Given the description of an element on the screen output the (x, y) to click on. 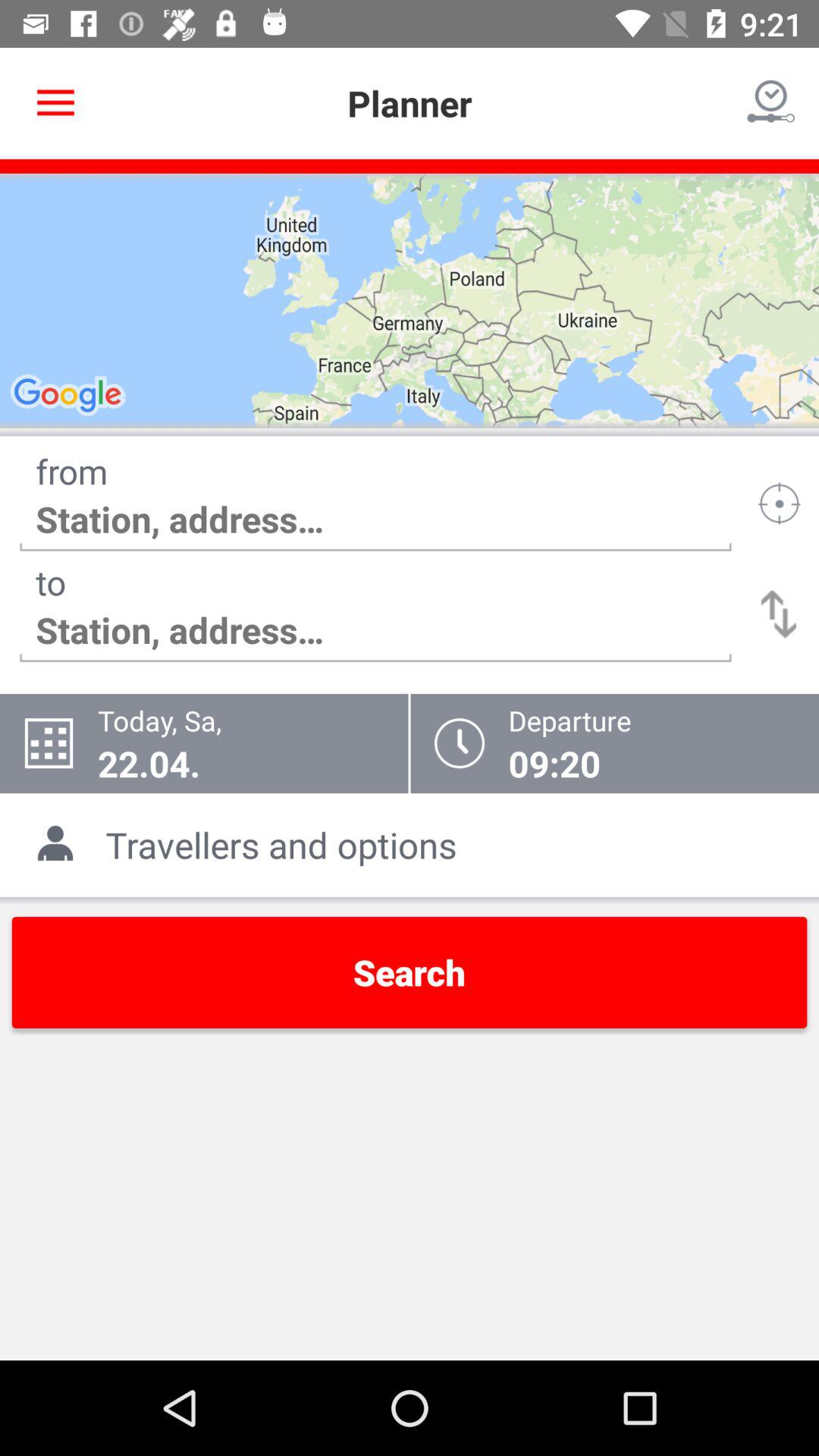
turn on the icon next to planner icon (771, 103)
